Given the description of an element on the screen output the (x, y) to click on. 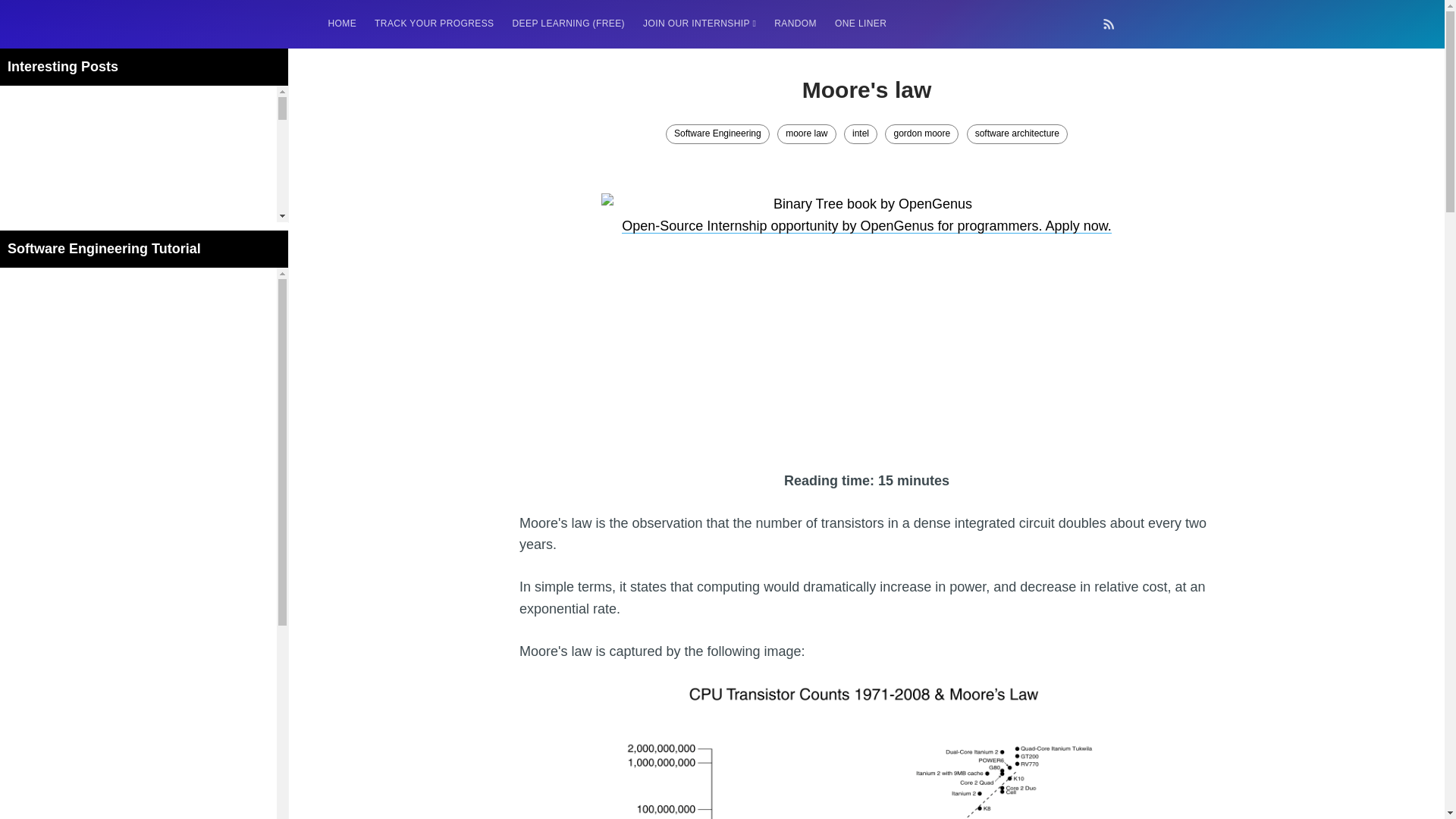
Top Competitive Programmers (93, 316)
Richest Programmers in the World (102, 521)
Unsolved Problems in Algorithms (99, 345)
Software Engineering (717, 134)
STORY: Multiplication from 1950 to 2022 (117, 551)
gordon moore (921, 134)
STORY: Galactic algorithm (84, 808)
RANDOM (795, 23)
How to get Developer Job in Japan? (107, 404)
intel (860, 134)
